Given the description of an element on the screen output the (x, y) to click on. 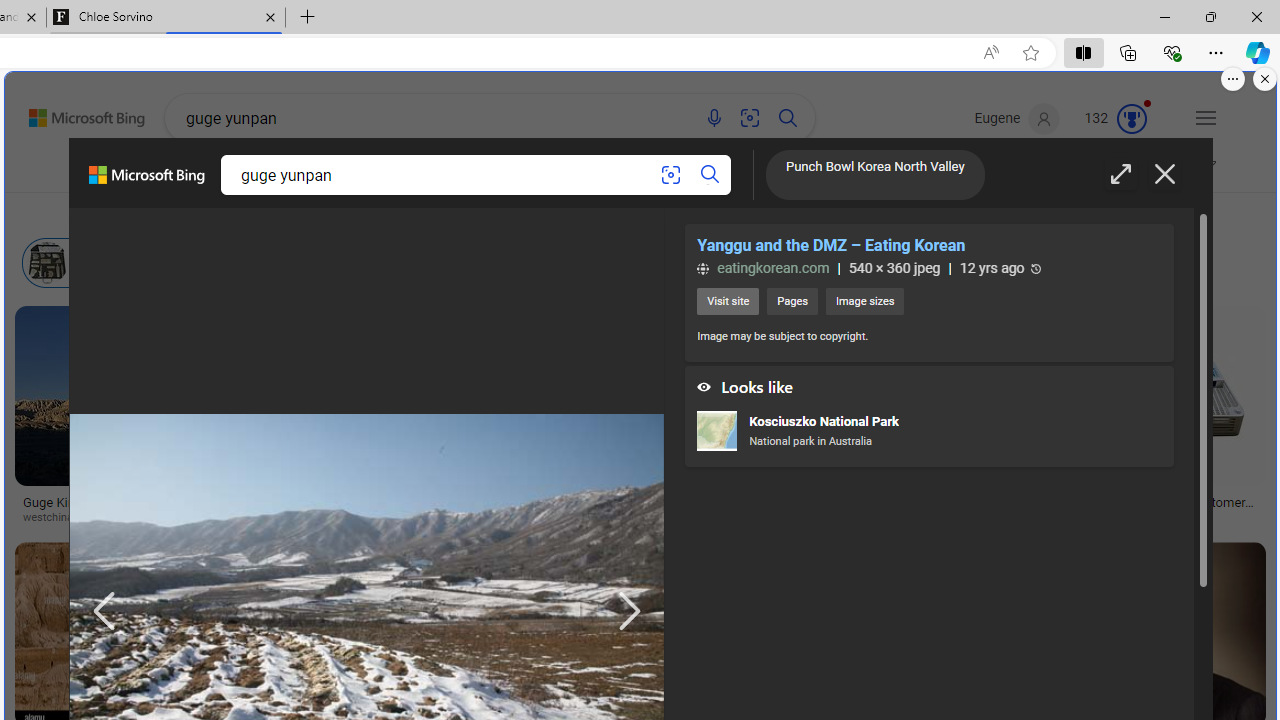
Image size (223, 213)
Dropdown Menu (875, 170)
Image may be subject to copyright. (781, 336)
cartoondealer.com (756, 517)
istockphoto.com (541, 517)
Guage Set (1000, 435)
Guge Kingdom Ruins - China Tours @WestChinaGo (125, 510)
Type (372, 213)
Guage Set (1000, 435)
Color (306, 213)
Looks likeKosciuszko National ParkNational park in Australia (928, 416)
